Given the description of an element on the screen output the (x, y) to click on. 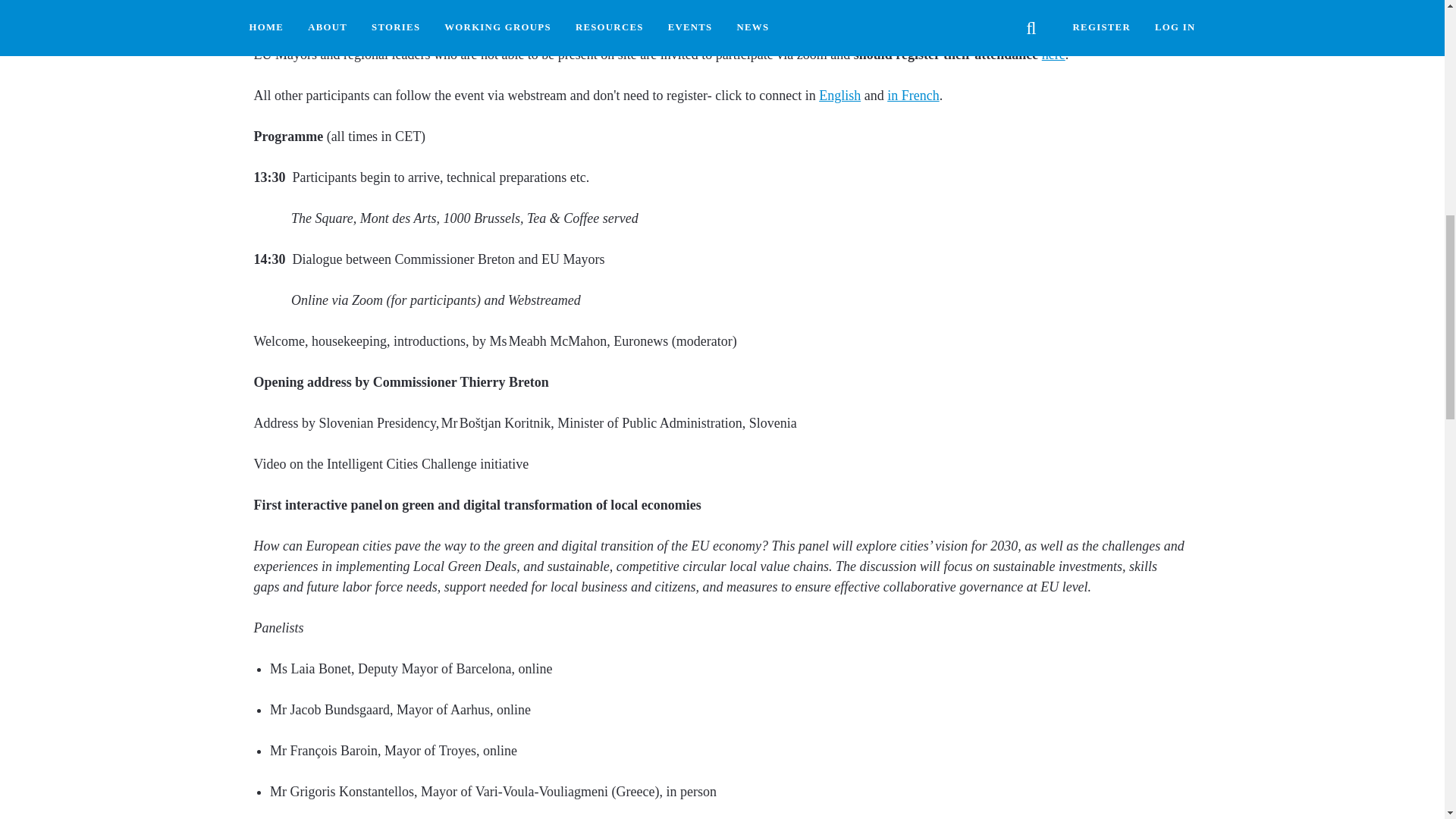
in French (912, 95)
English (839, 95)
here (1053, 54)
Smart, Green and Resilient Cities (839, 95)
